Given the description of an element on the screen output the (x, y) to click on. 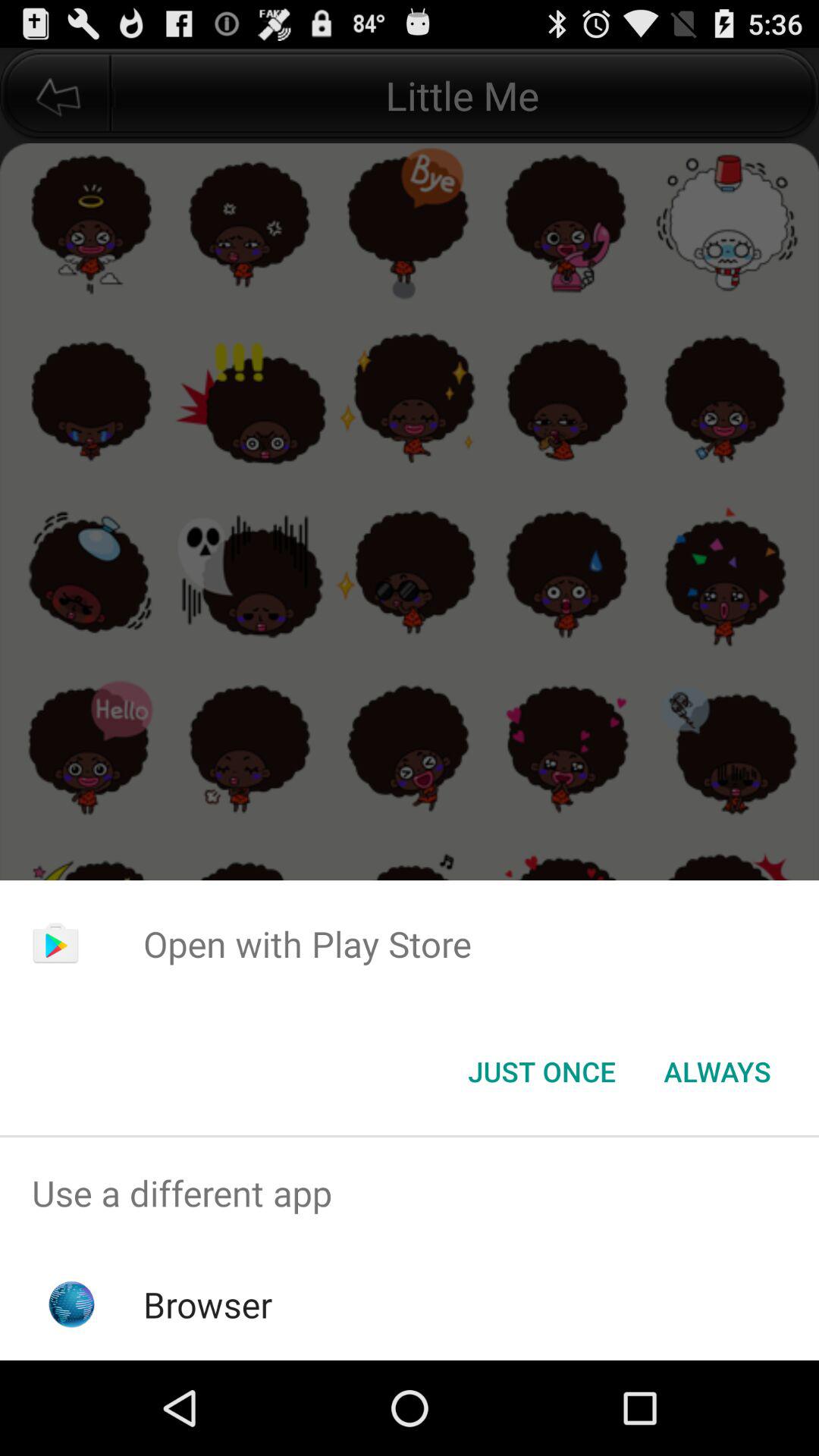
tap item next to the just once item (717, 1071)
